Given the description of an element on the screen output the (x, y) to click on. 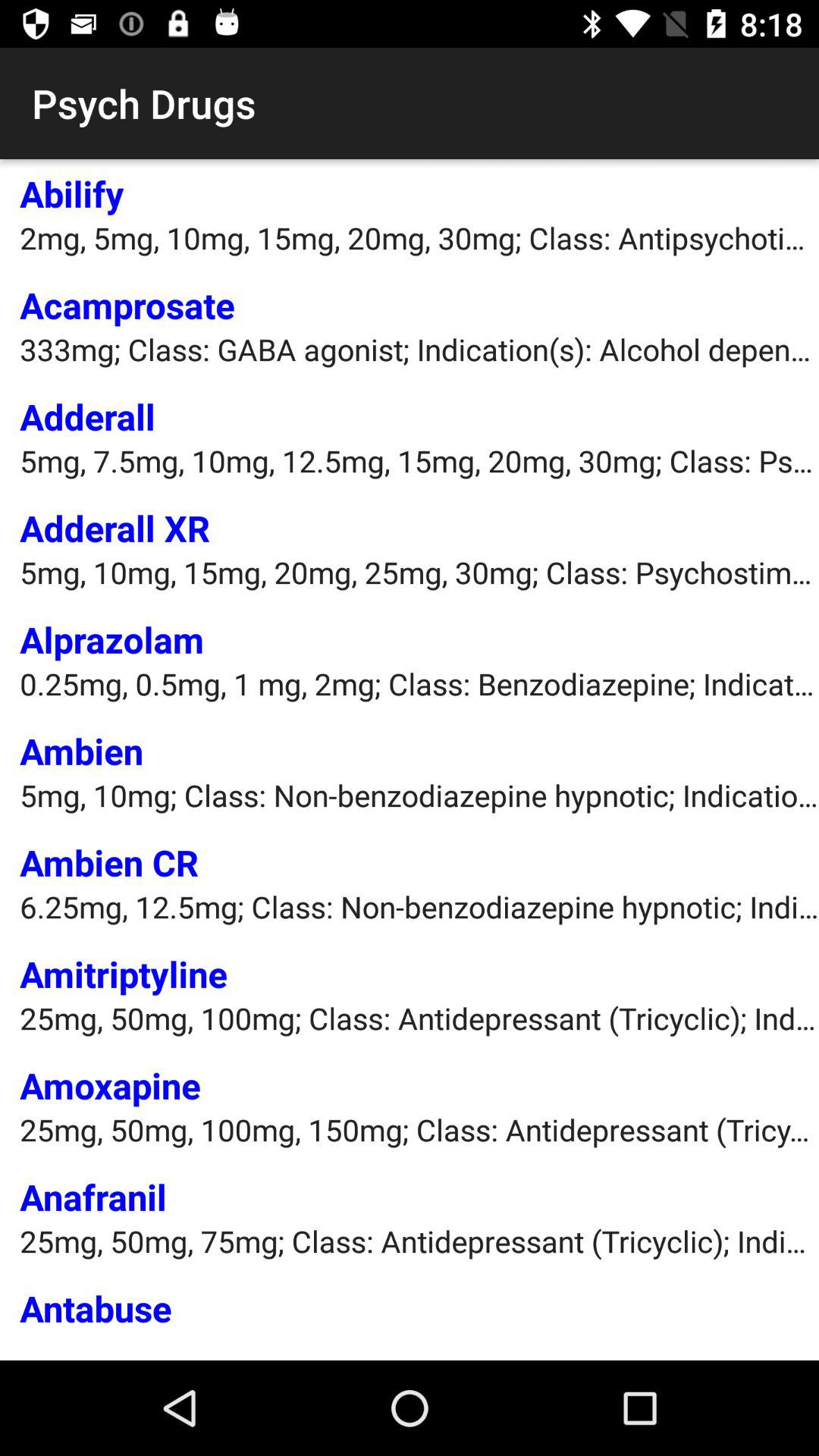
swipe to the alprazolam icon (111, 639)
